Given the description of an element on the screen output the (x, y) to click on. 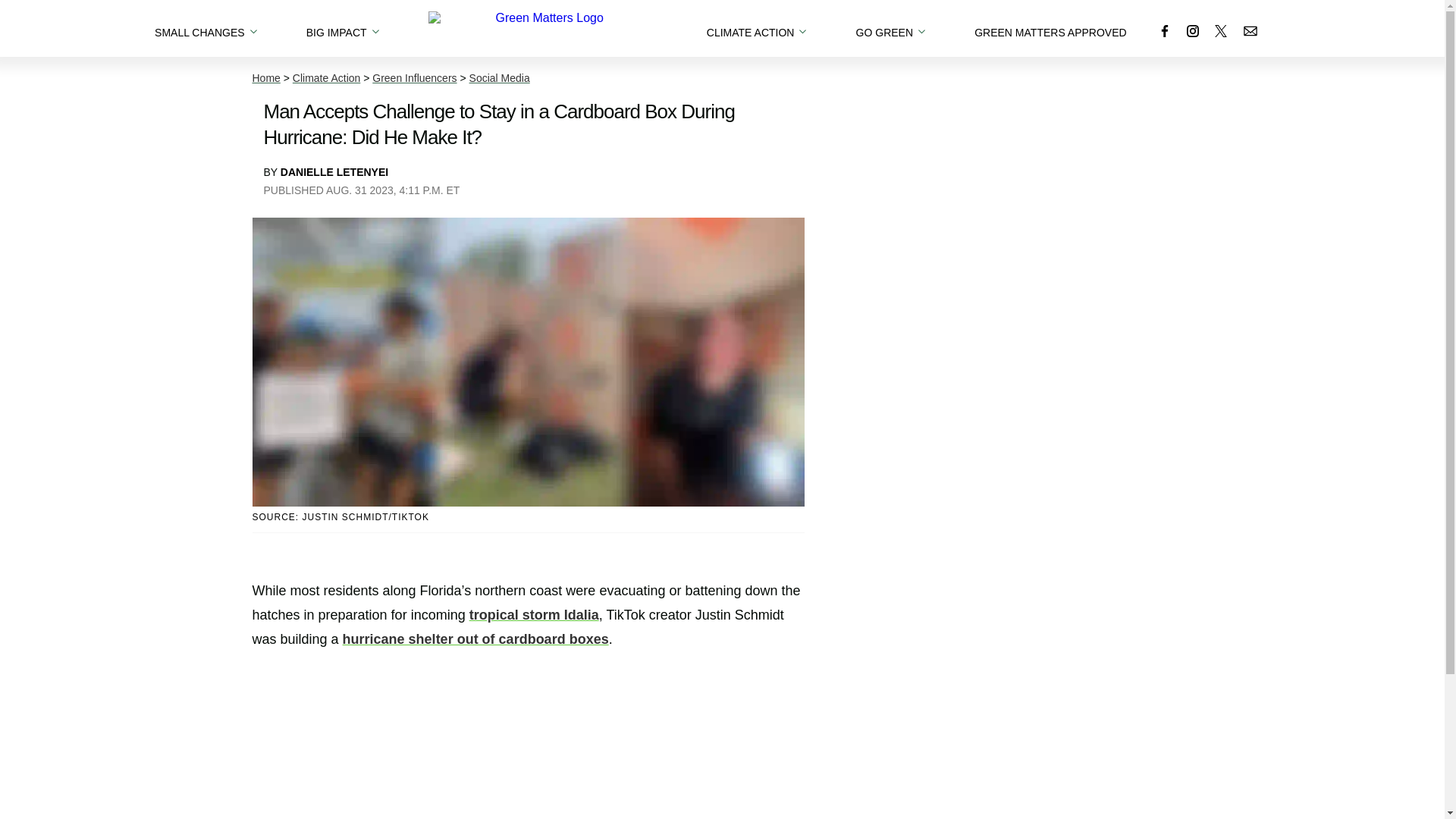
LINK TO FACEBOOK (1164, 30)
LINK TO X (1220, 30)
LINK TO EMAIL SUBSCRIBE (1250, 30)
LINK TO INSTAGRAM (1192, 30)
GREEN MATTERS APPROVED (1049, 27)
